Given the description of an element on the screen output the (x, y) to click on. 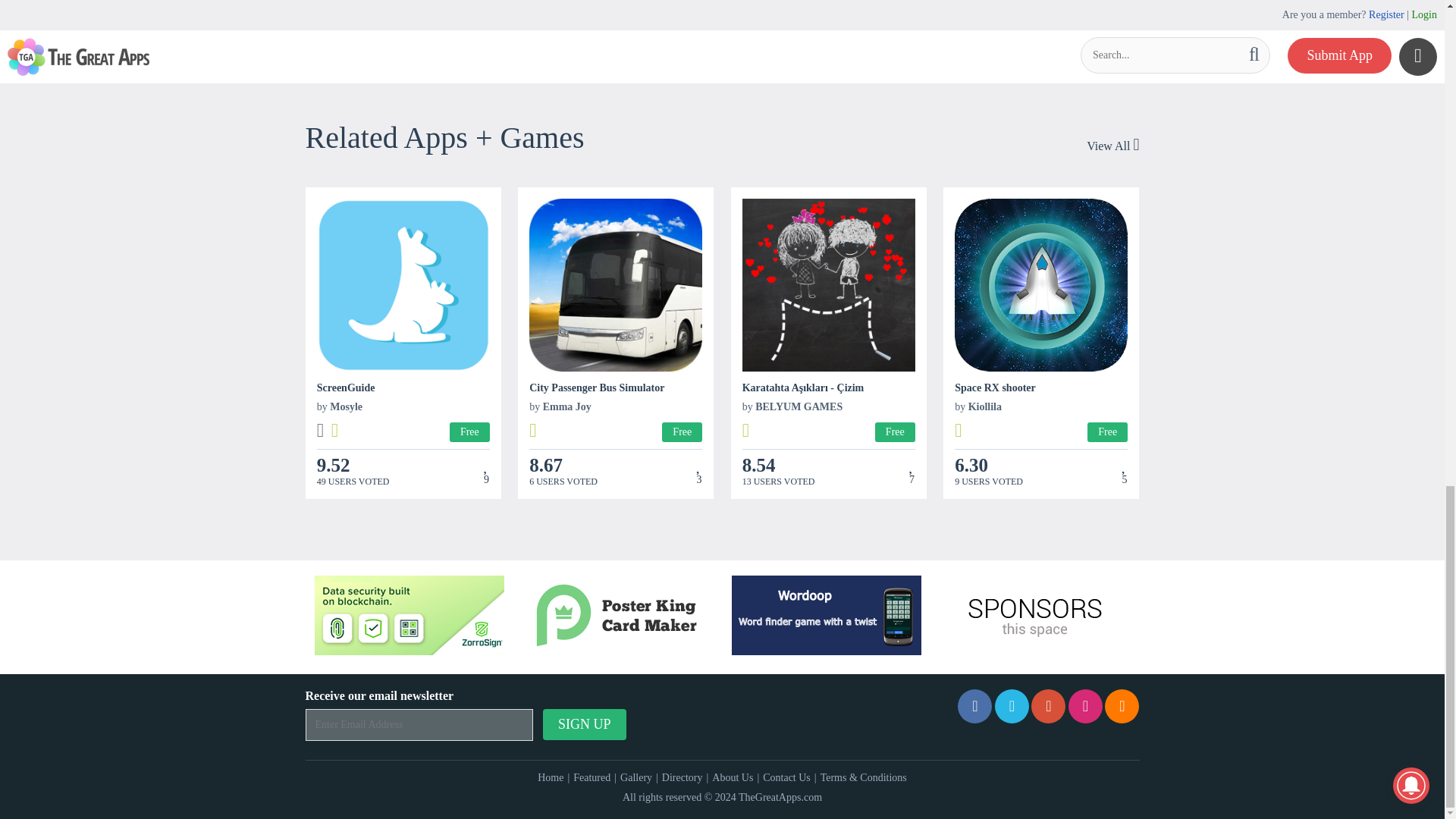
Sign up (584, 724)
Sponsors Advertise with us (1034, 615)
Instagram (1085, 706)
Facebook (974, 706)
Rss (1121, 706)
Twitter (1011, 706)
ZorroSign (408, 615)
Poster King - Card Maker (617, 615)
Pinterest (1047, 706)
Wordoop Word Game (826, 615)
